Given the description of an element on the screen output the (x, y) to click on. 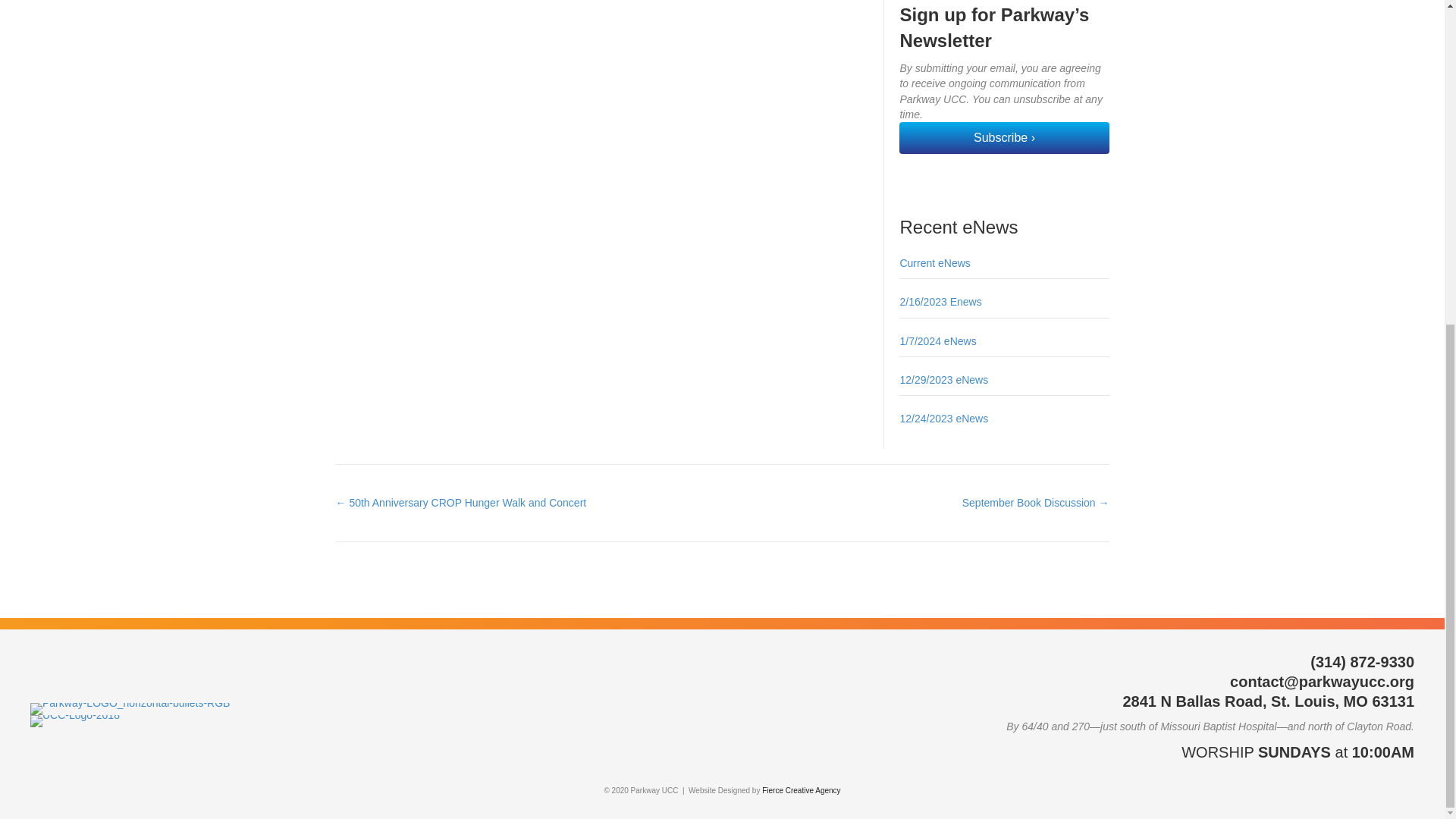
Current eNews (934, 263)
UCC-Logo-2018 (74, 720)
Current eNews (934, 263)
